Given the description of an element on the screen output the (x, y) to click on. 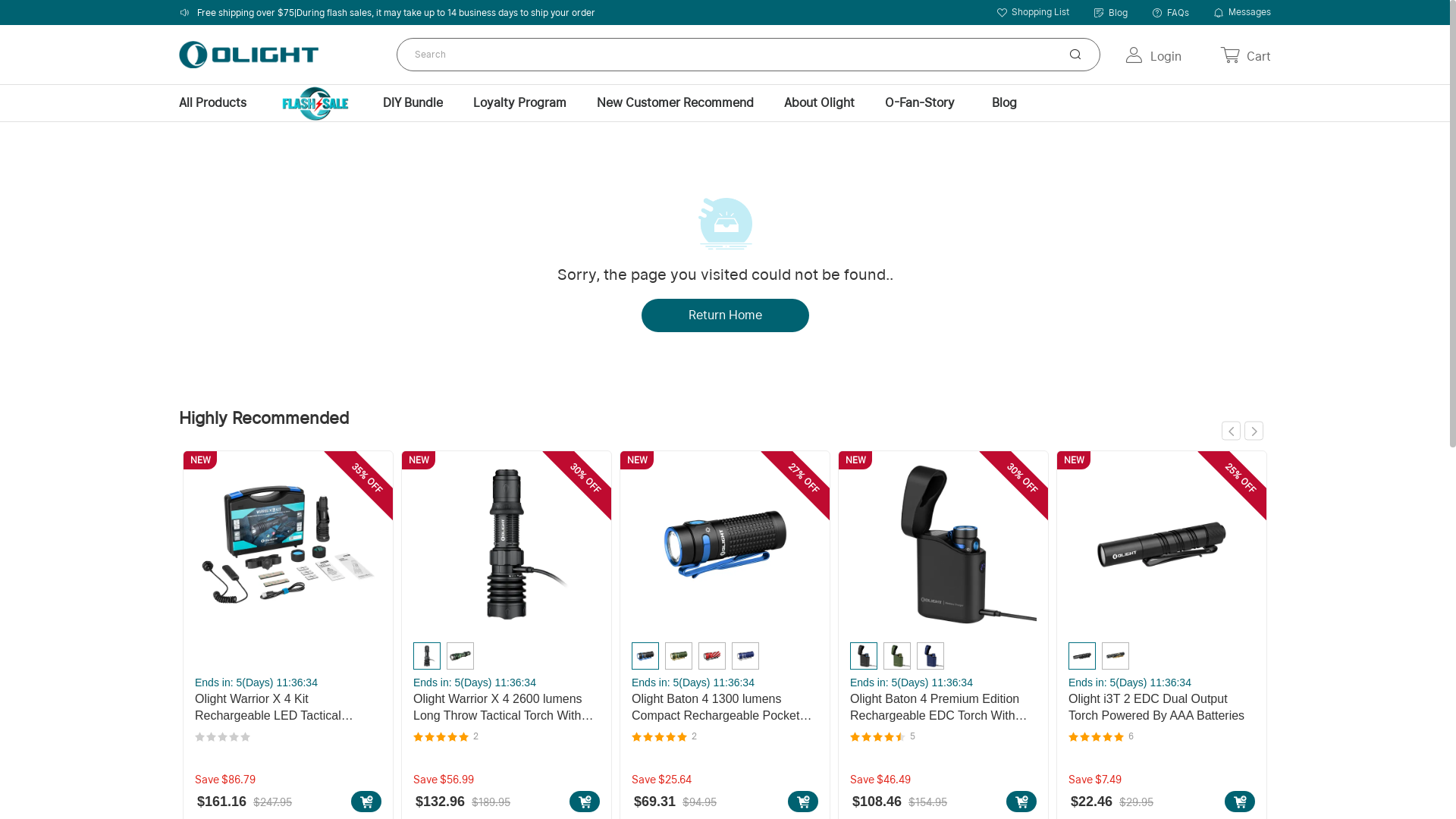
About Olight Element type: text (819, 102)
Loyalty Program Element type: text (519, 102)
O-Fan-Story Element type: text (919, 102)
Blog Element type: text (1110, 12)
All Products Element type: text (219, 102)
All Products Element type: text (212, 102)
Blog Element type: text (1003, 102)
2 Element type: text (506, 736)
DIY Bundle Element type: text (412, 102)
Return Home Element type: text (725, 315)
About Olight Element type: text (818, 102)
New Customer Recommend Element type: text (674, 102)
6 Element type: text (1161, 736)
NEW
25%
OFF Element type: text (1161, 546)
NEW
35%
OFF Element type: text (287, 546)
2 Element type: text (724, 736)
NEW
27%
OFF Element type: text (724, 546)
FAQs Element type: text (1170, 12)
NEW
30%
OFF Element type: text (943, 546)
Olight i3T 2 EDC Dual Output Torch Powered By AAA Batteries Element type: text (1161, 707)
New Customer Recommend Element type: text (674, 102)
5 Element type: text (943, 736)
NEW
30%
OFF Element type: text (506, 546)
Olight Baton 4 1300 lumens Compact Rechargeable Pocket Torch Element type: text (724, 707)
DIY Bundle Element type: text (412, 102)
Blog Element type: text (1003, 102)
O-Fan-Story Element type: text (919, 102)
Loyalty Program Element type: text (519, 102)
